Given the description of an element on the screen output the (x, y) to click on. 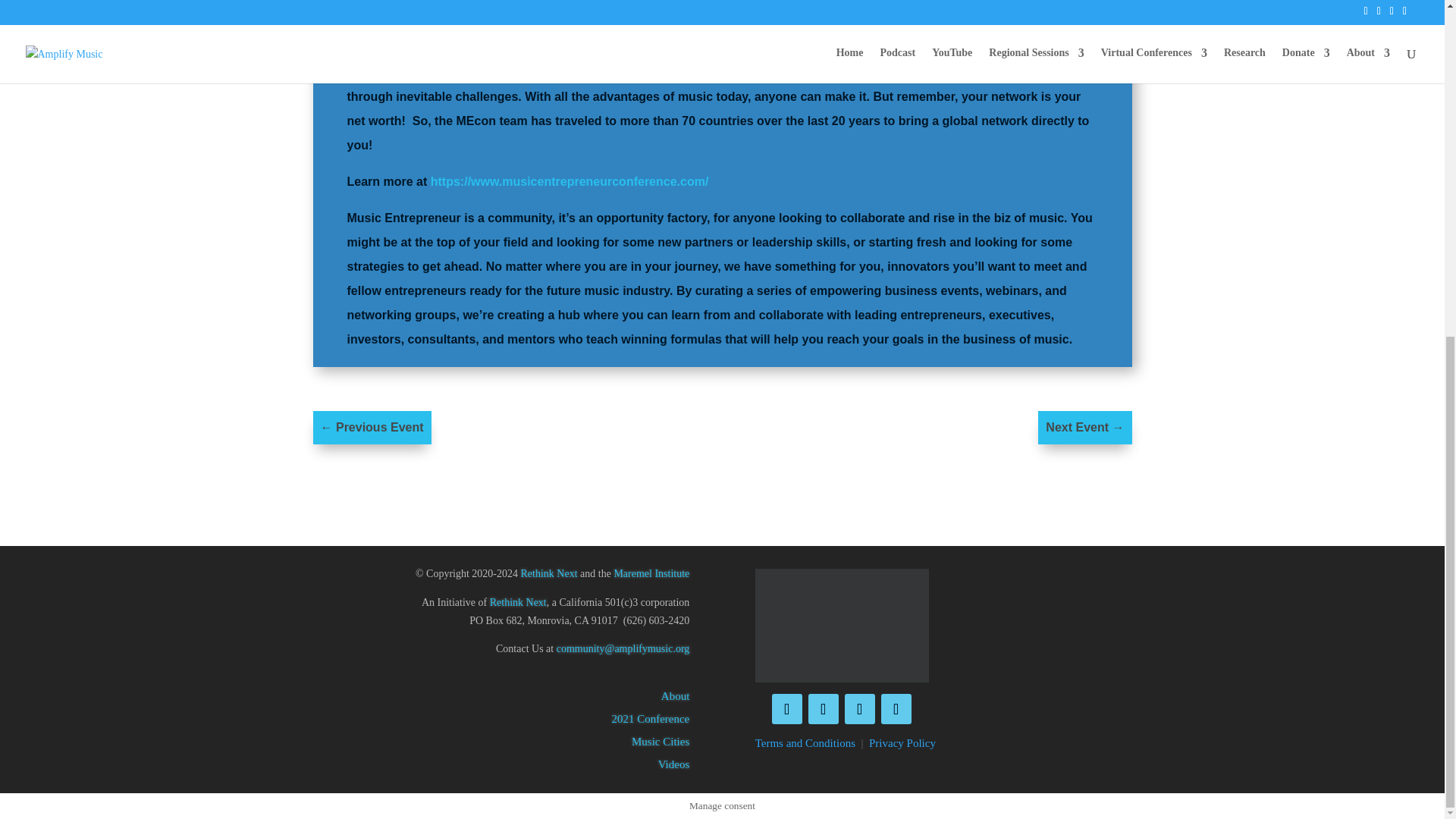
Follow on Instagram (859, 708)
Follow on Facebook (786, 708)
Follow on LinkedIn (895, 708)
Follow on X (823, 708)
